Given the description of an element on the screen output the (x, y) to click on. 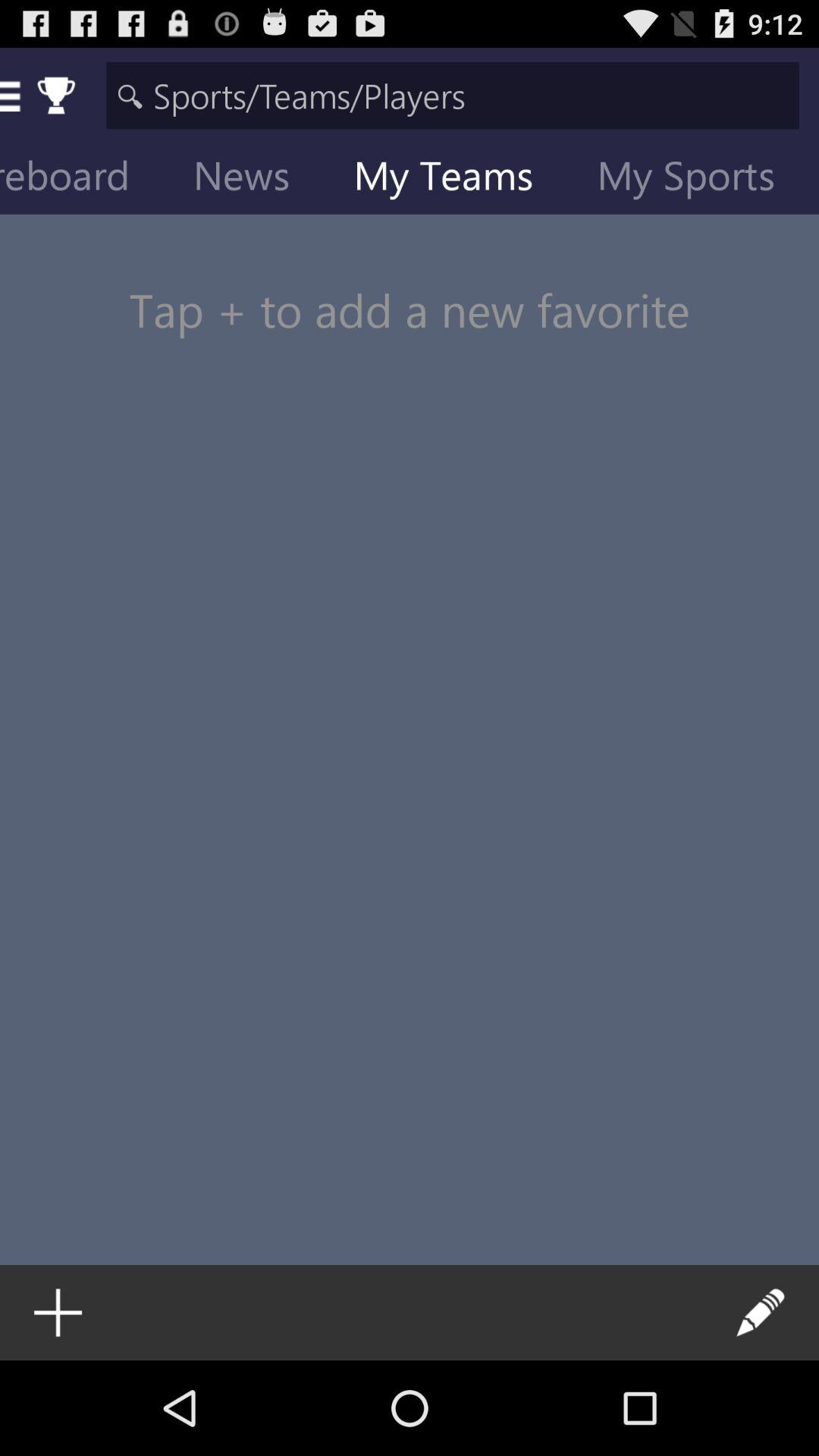
turn off the item above the tap to add icon (455, 178)
